Given the description of an element on the screen output the (x, y) to click on. 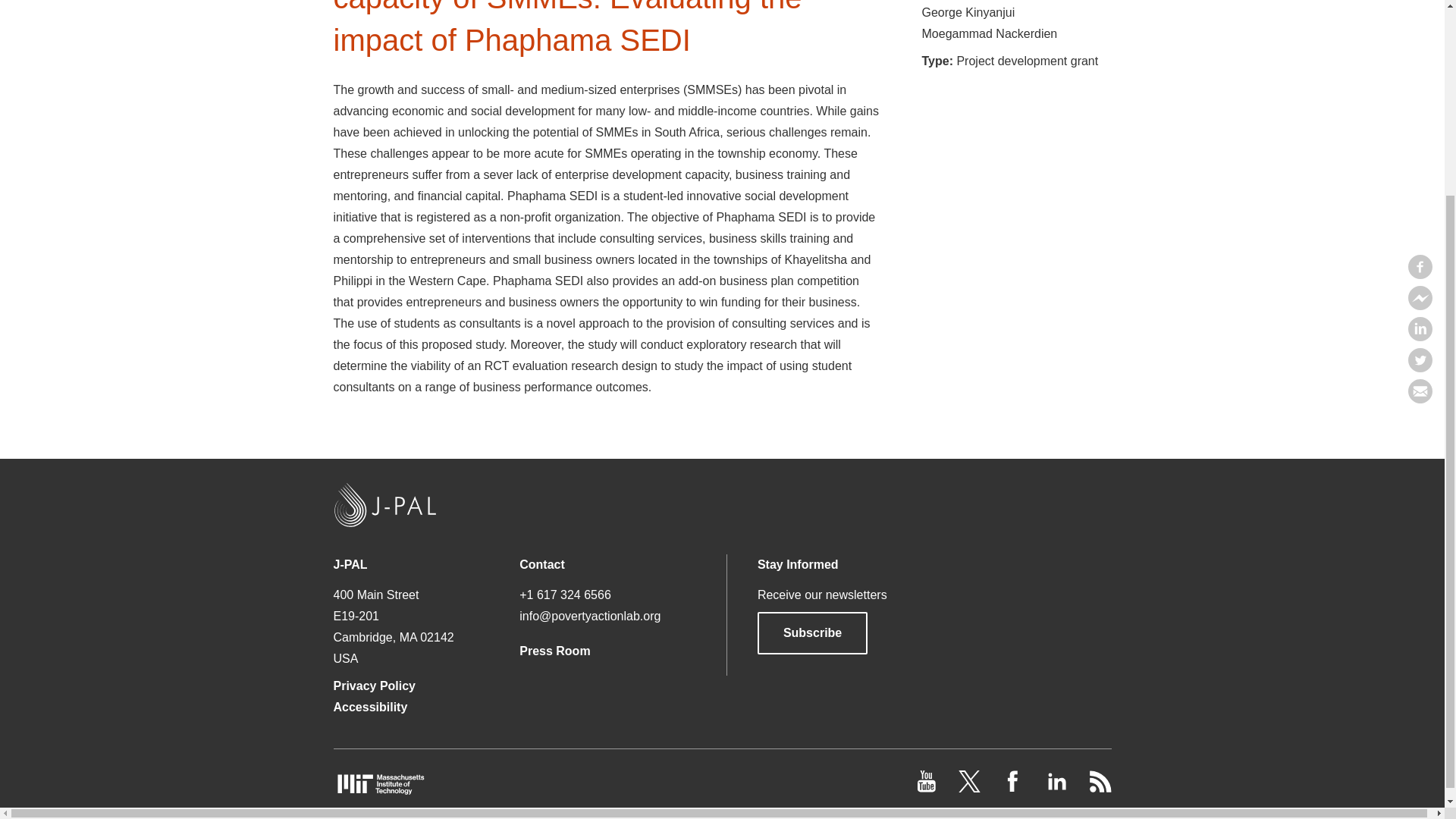
Linkedin (1419, 84)
Email (1419, 146)
rss feed (1099, 788)
Twitter (1419, 115)
youtube (927, 788)
Facebook messenger (1419, 52)
Facebook (1419, 22)
facebook (1015, 788)
twitter (971, 788)
LinkedIn (1057, 788)
